Given the description of an element on the screen output the (x, y) to click on. 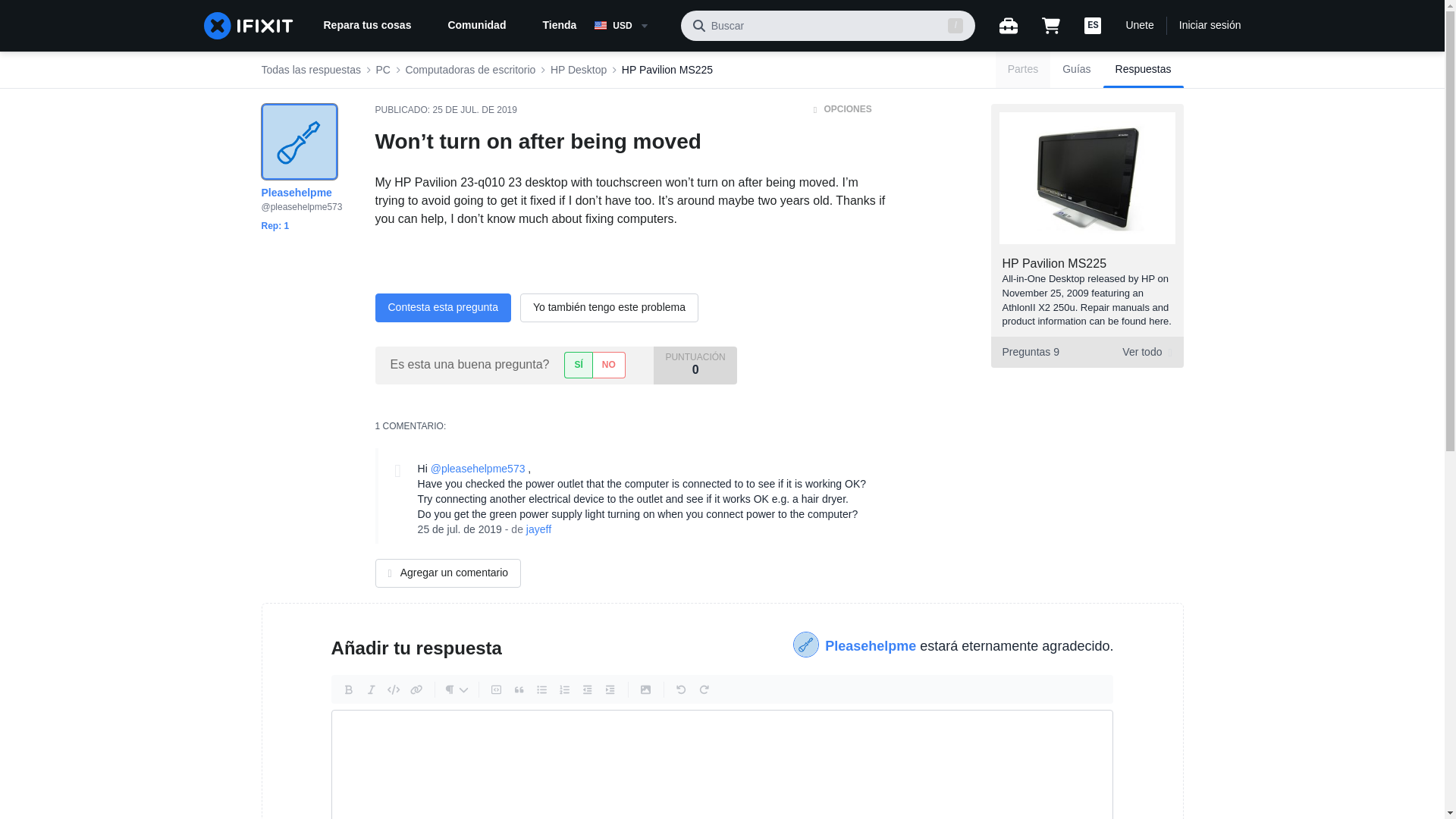
Respuestas (1143, 69)
Thu, 25 Jul 2019 22:35:10 -0700 (459, 529)
HP Pavilion MS225 (1054, 263)
HP Desktop (578, 69)
Contesta esta pregunta (442, 307)
Unete (1139, 25)
USD (1086, 351)
PC (631, 25)
Computadoras de escritorio (382, 69)
